Given the description of an element on the screen output the (x, y) to click on. 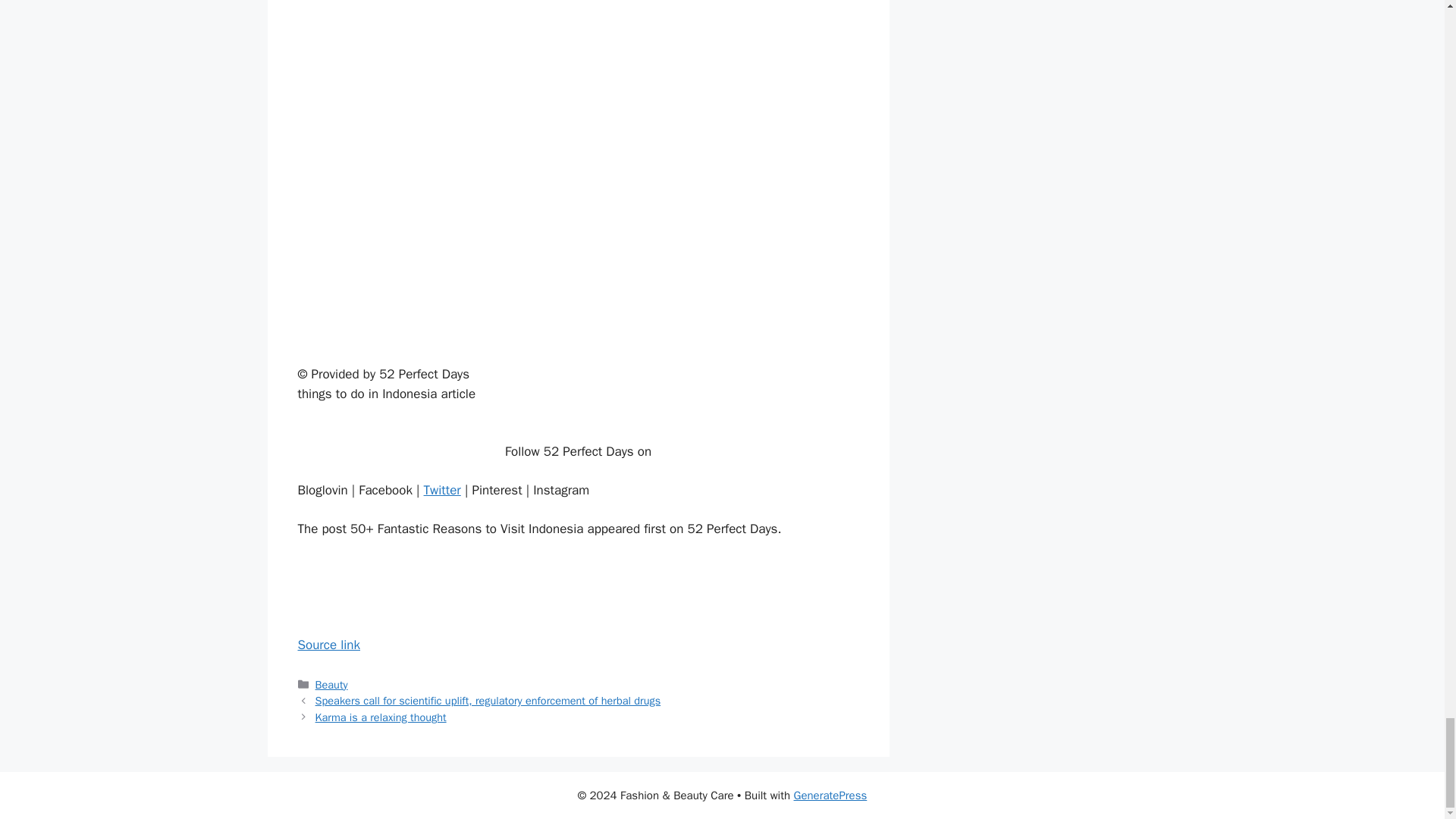
Twitter (442, 489)
Source link (328, 644)
Karma is a relaxing thought (380, 716)
Beauty (331, 684)
